Given the description of an element on the screen output the (x, y) to click on. 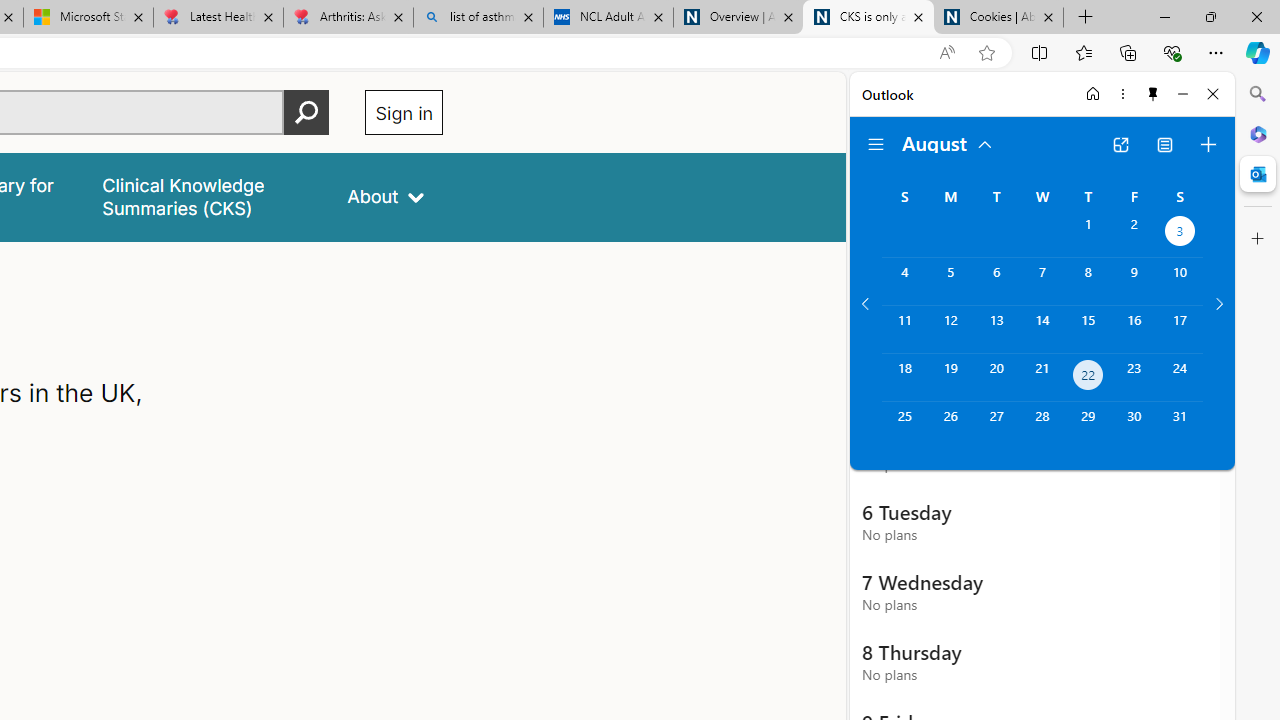
Close Customize pane (1258, 239)
